Given the description of an element on the screen output the (x, y) to click on. 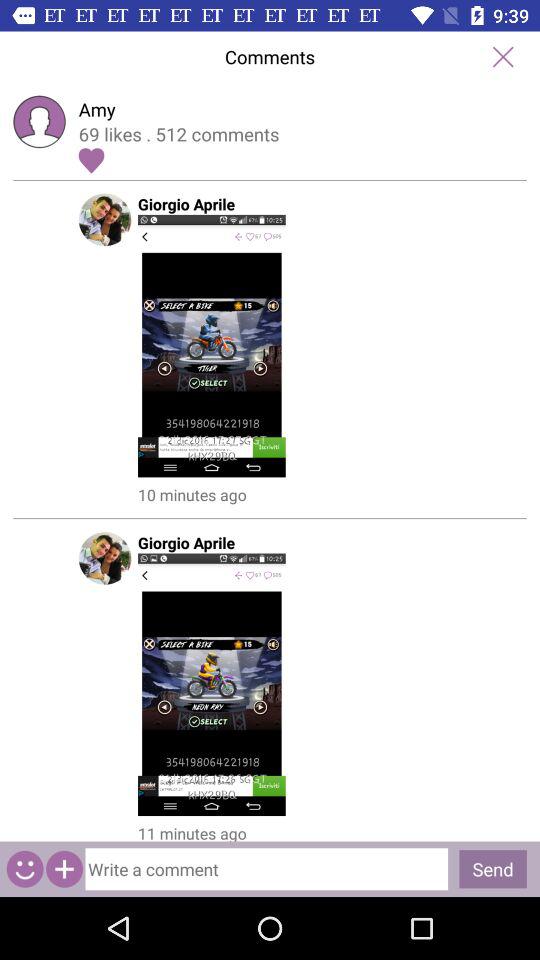
insert a comment (270, 864)
